Given the description of an element on the screen output the (x, y) to click on. 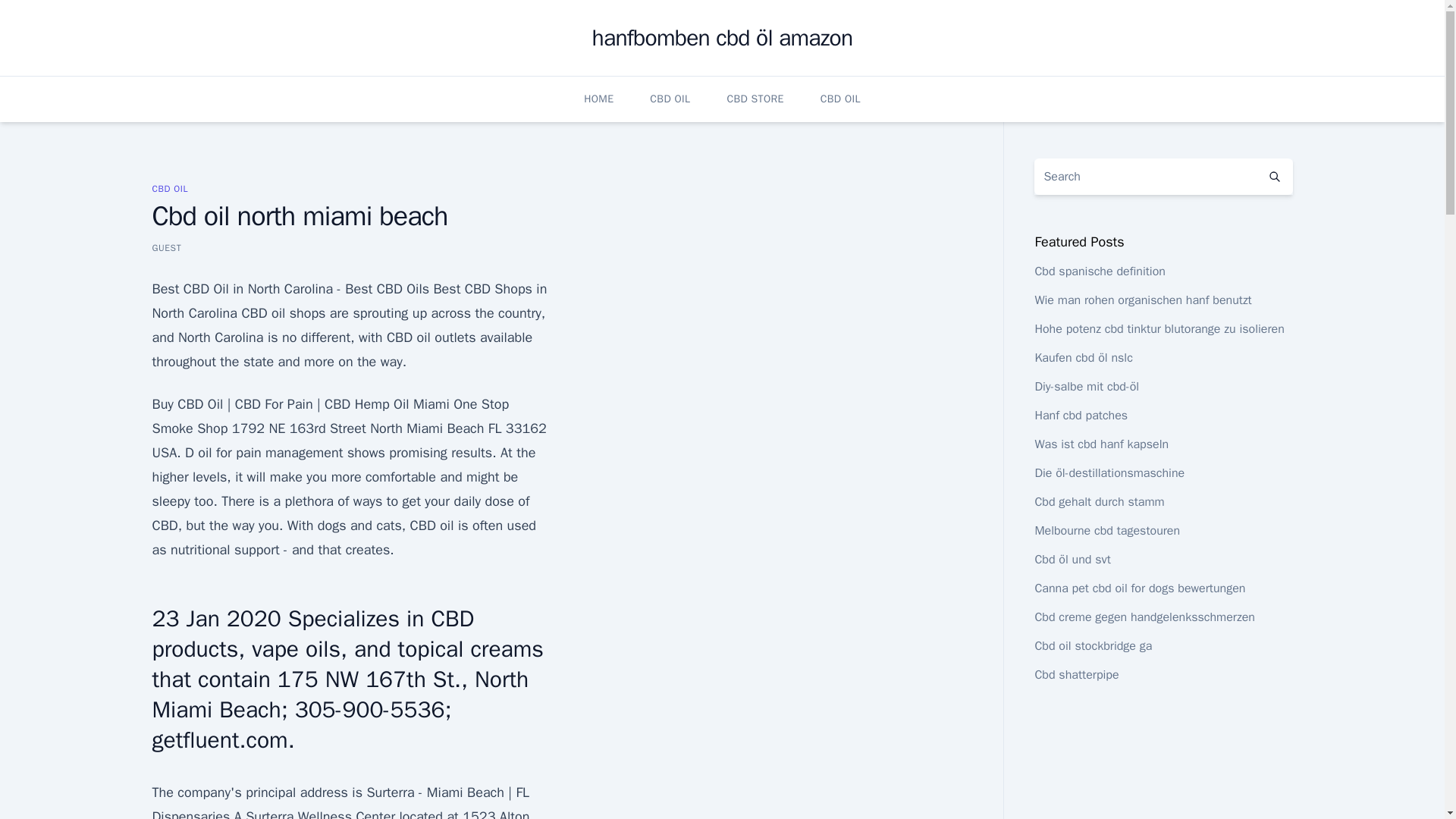
CBD OIL (169, 188)
Was ist cbd hanf kapseln (1101, 444)
Hohe potenz cbd tinktur blutorange zu isolieren (1158, 328)
Cbd spanische definition (1099, 271)
CBD STORE (754, 99)
Hanf cbd patches (1079, 415)
GUEST (165, 247)
Wie man rohen organischen hanf benutzt (1141, 299)
